Given the description of an element on the screen output the (x, y) to click on. 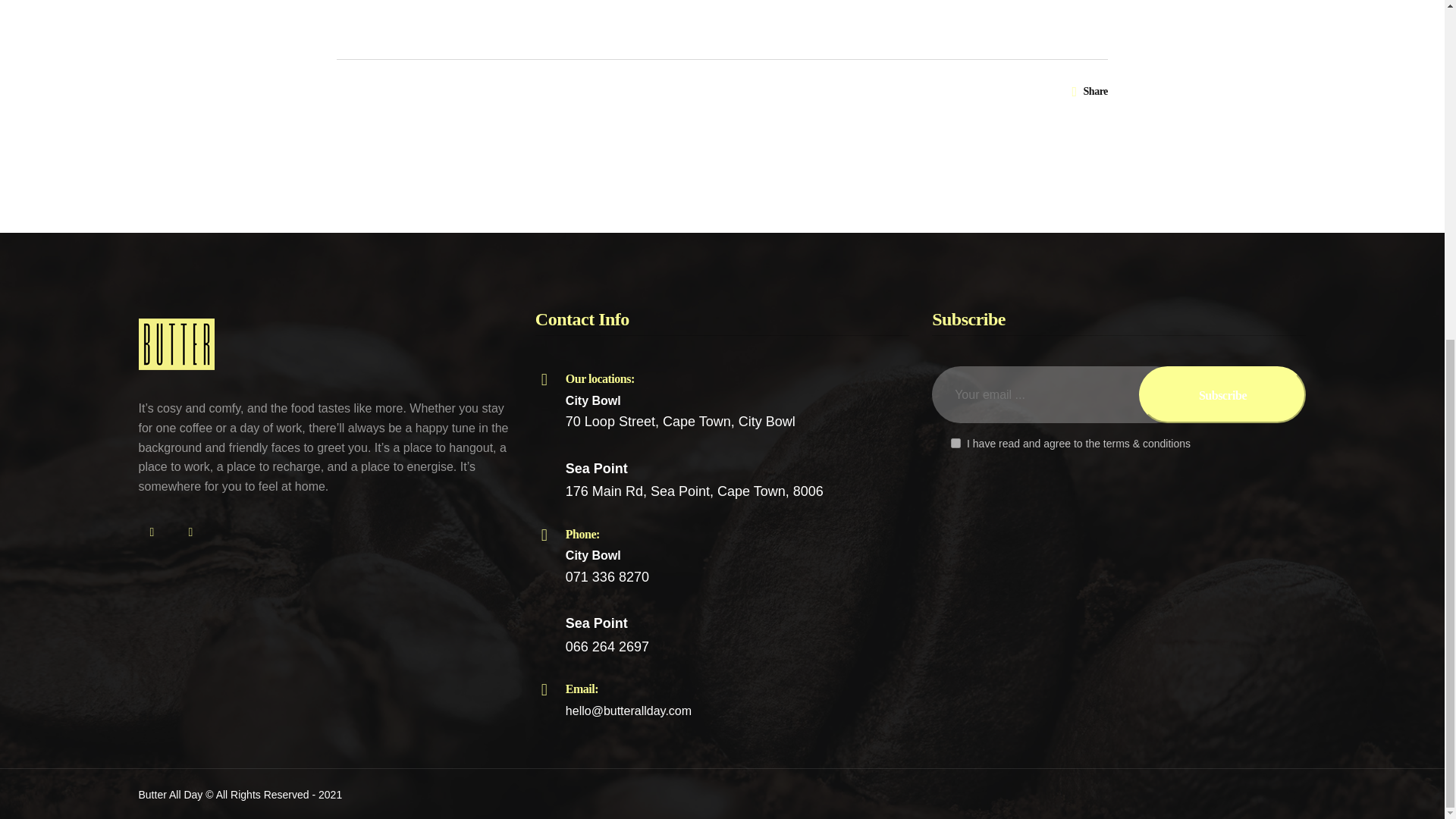
1 (955, 442)
066 264 2697 (607, 646)
70 Loop Street, Cape Town, City Bowl (680, 421)
176 Main Rd, Sea Point, Cape Town, 8006 (695, 491)
Subscribe (695, 398)
071 336 8270 (695, 553)
